Given the description of an element on the screen output the (x, y) to click on. 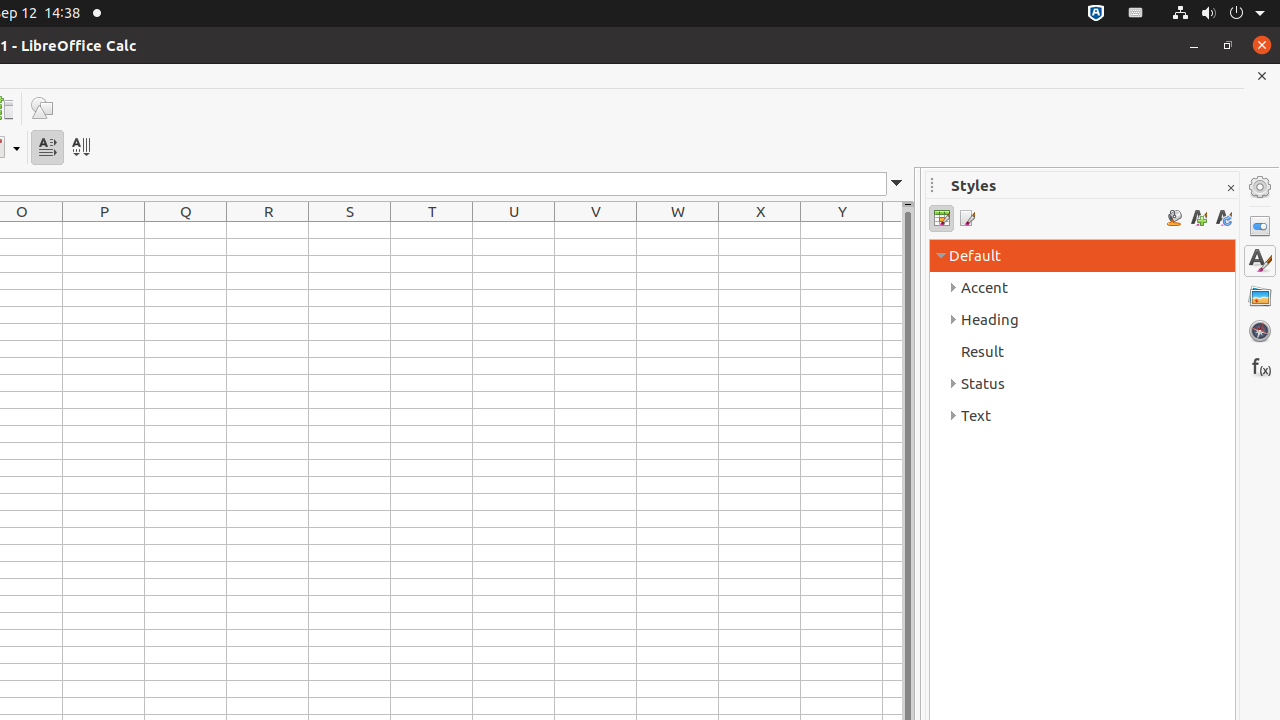
:1.72/StatusNotifierItem Element type: menu (1096, 13)
Gallery Element type: radio-button (1260, 296)
S1 Element type: table-cell (350, 230)
New Style from Selection Element type: push-button (1198, 218)
P1 Element type: table-cell (104, 230)
